Given the description of an element on the screen output the (x, y) to click on. 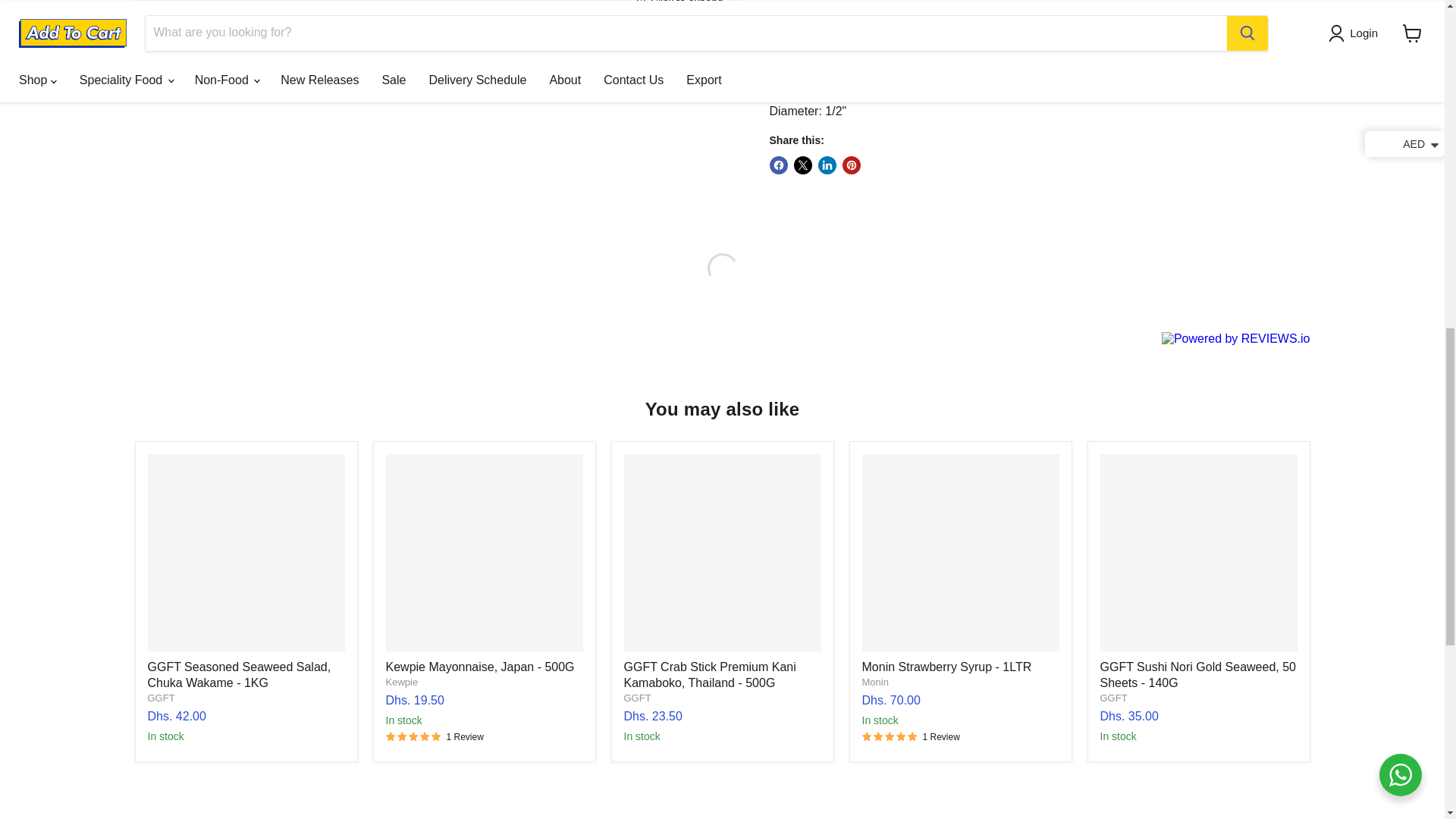
GGFT (636, 697)
Kewpie (401, 681)
GGFT (160, 697)
